Given the description of an element on the screen output the (x, y) to click on. 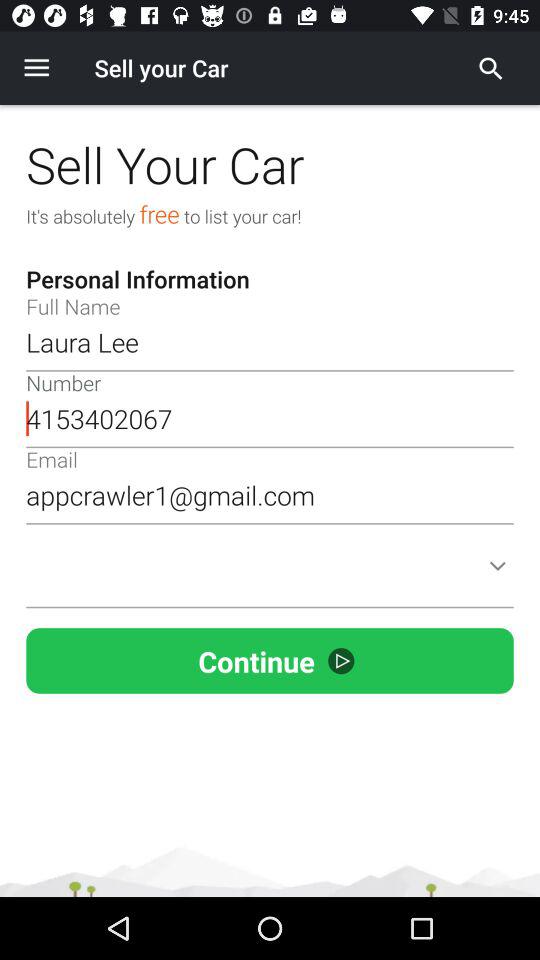
press the icon next to the sell your car (36, 68)
